Given the description of an element on the screen output the (x, y) to click on. 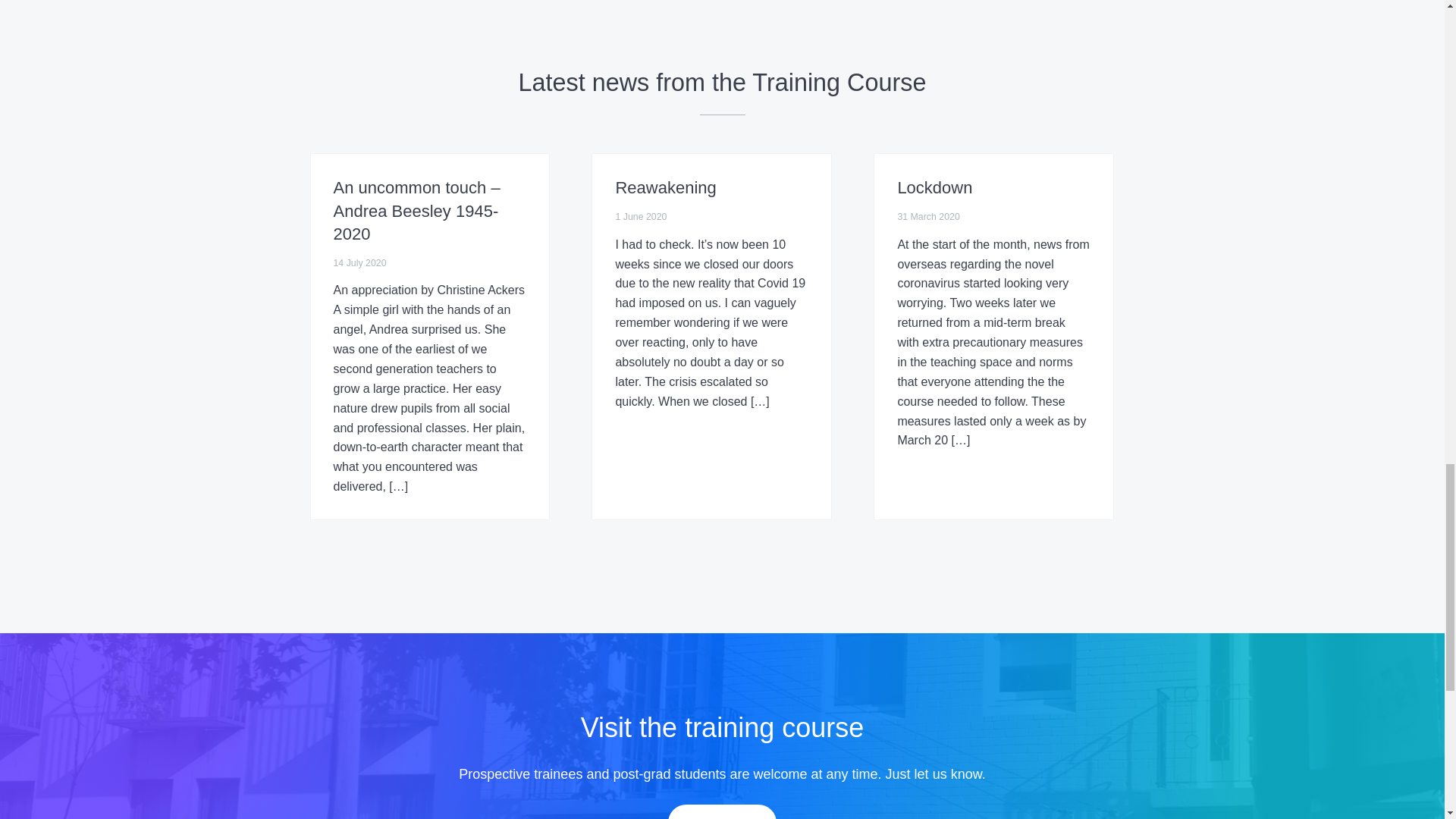
Reawakening (665, 187)
Lockdown (934, 187)
Contact us (722, 811)
